Given the description of an element on the screen output the (x, y) to click on. 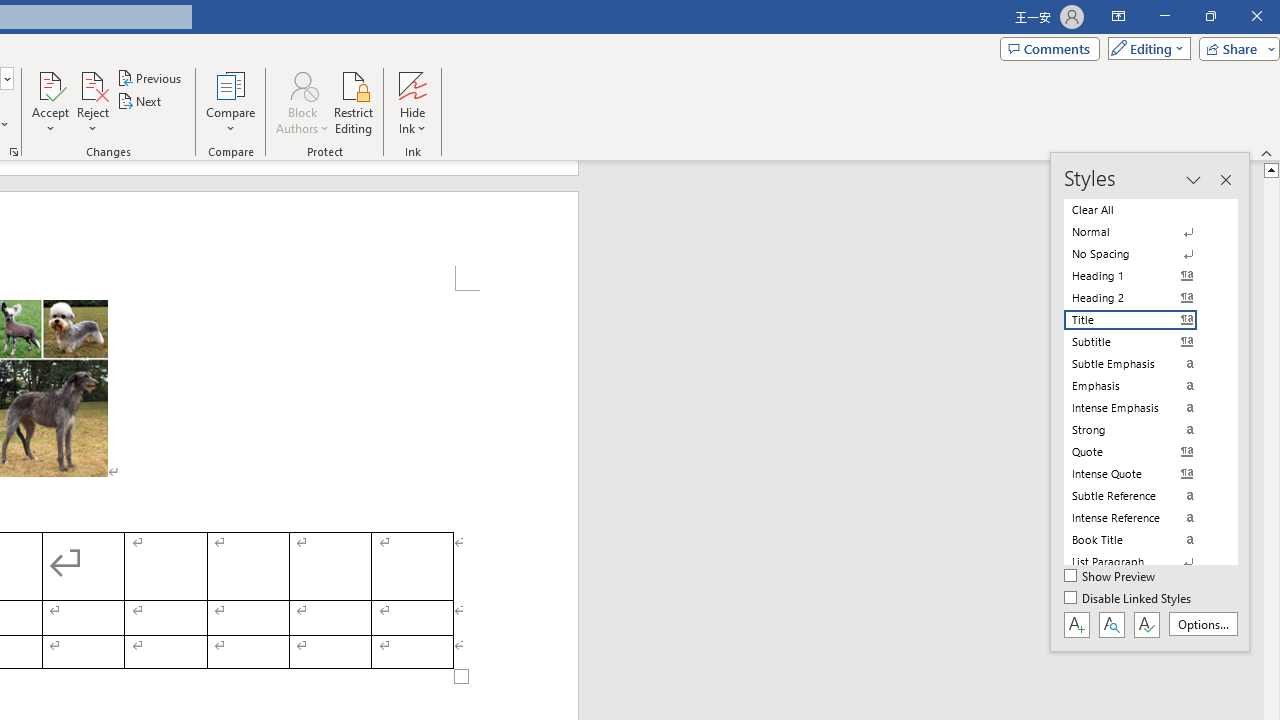
Book Title (1142, 539)
Subtle Reference (1142, 495)
Previous (150, 78)
Intense Quote (1142, 473)
Title (1142, 319)
Strong (1142, 429)
